Given the description of an element on the screen output the (x, y) to click on. 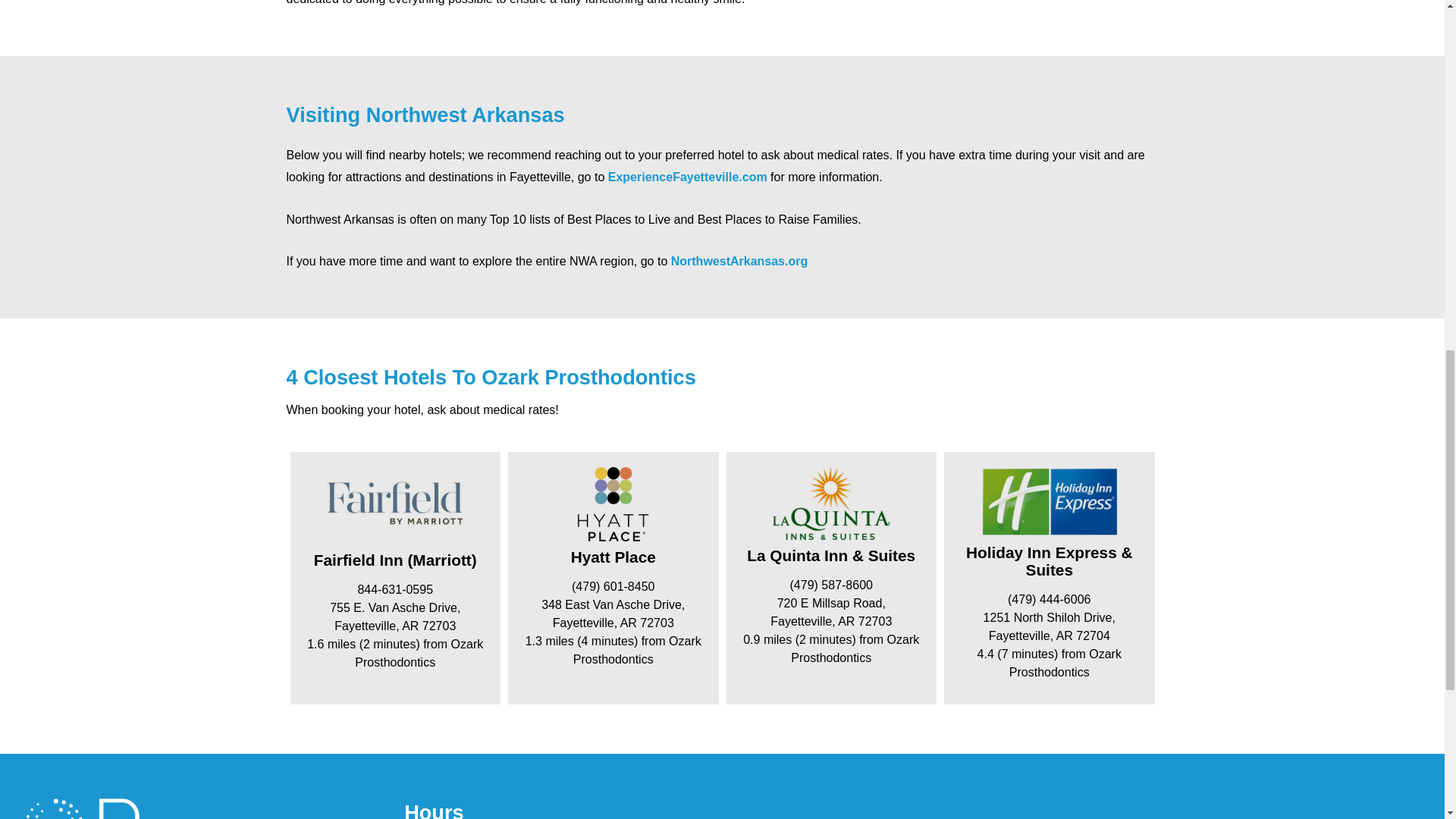
NorthwestArkansas.org (739, 260)
Ozark Prosthodontics Little Rock AR (1188, 809)
ExperienceFayetteville.com (687, 176)
